Given the description of an element on the screen output the (x, y) to click on. 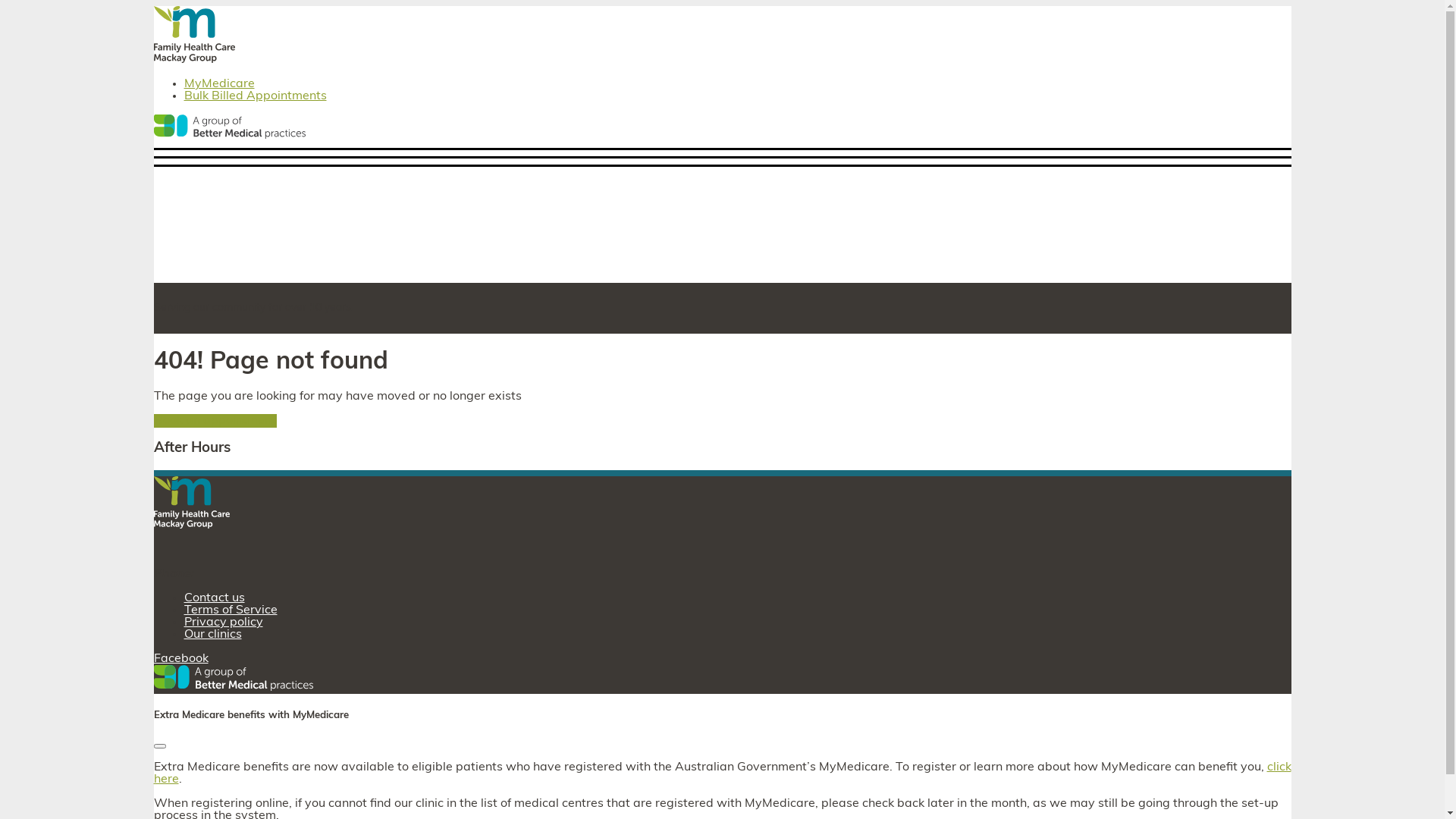
Terms of Service Element type: text (229, 610)
Facebook Element type: text (180, 658)
Book an appointment Element type: text (214, 420)
click here Element type: text (721, 773)
Privacy policy Element type: text (222, 622)
Contact us Element type: text (213, 598)
Bulk Billed Appointments Element type: text (254, 96)
Our clinics Element type: text (212, 634)
MyMedicare Element type: text (218, 84)
